Given the description of an element on the screen output the (x, y) to click on. 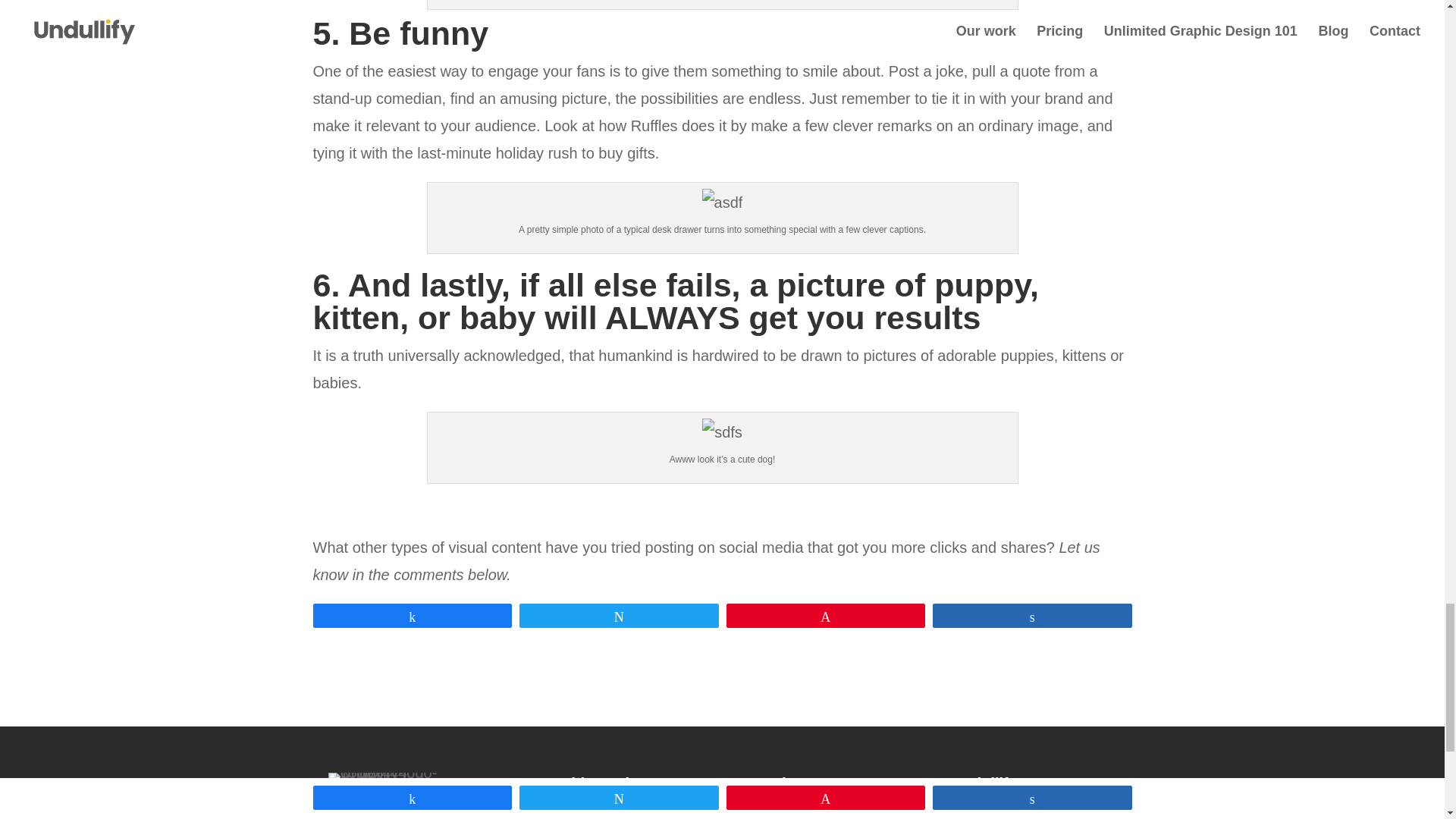
About Us (973, 808)
The Cornerstone Content Creation Checklist (823, 811)
